Given the description of an element on the screen output the (x, y) to click on. 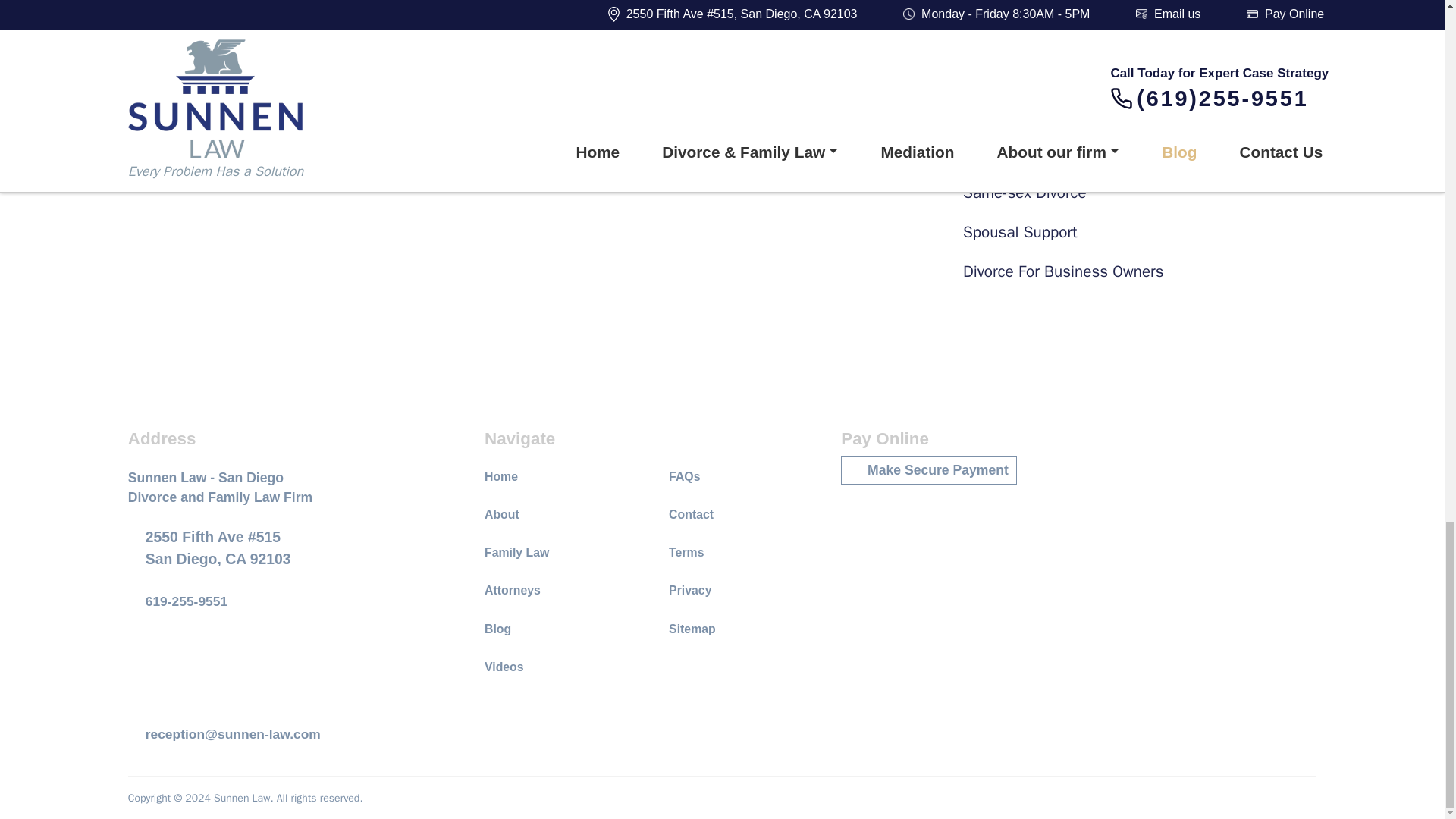
Restraining Orders (1142, 153)
Military Divorce (1142, 3)
Spousal Support (1142, 232)
Same-sex Divorce (1142, 192)
Prenuptial Agreements (1142, 74)
Military Divorce (1142, 3)
Divorce For Business Owners (1142, 271)
Paternity Law (1142, 34)
Relocation Move-away Requests (1142, 114)
